Given the description of an element on the screen output the (x, y) to click on. 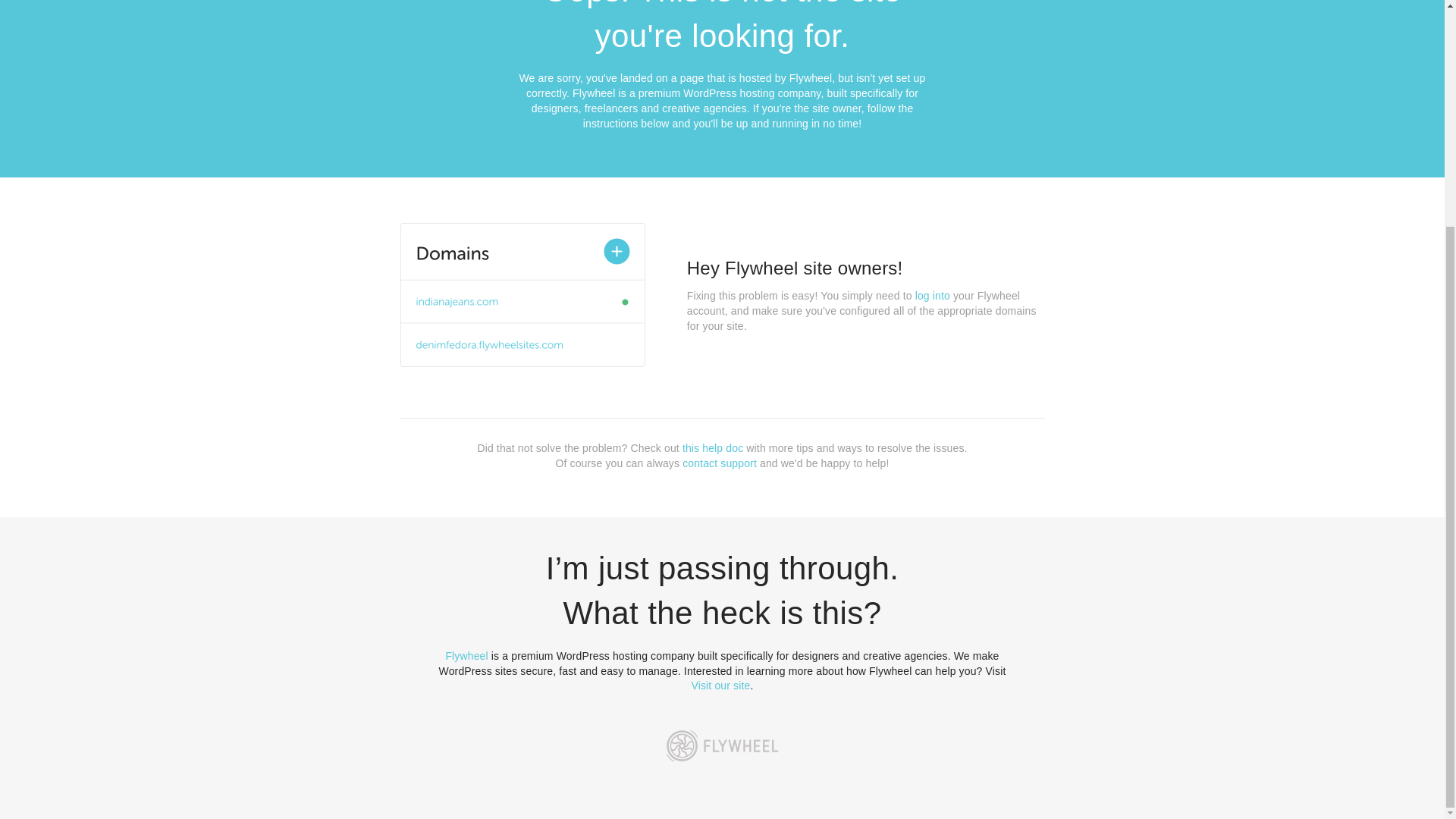
Flywheel (466, 655)
this help doc (712, 448)
log into (932, 295)
Visit our site (721, 685)
contact support (719, 463)
